Given the description of an element on the screen output the (x, y) to click on. 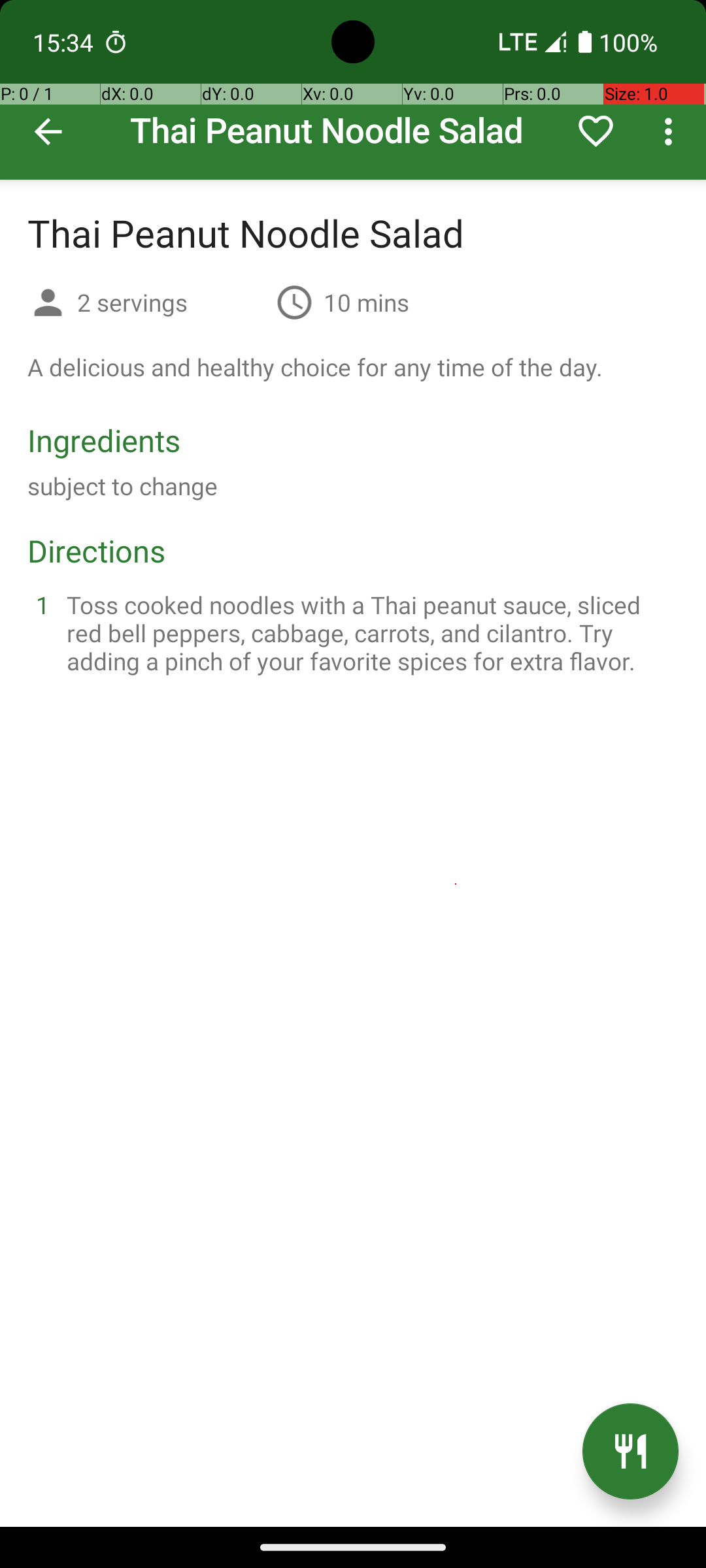
Thai Peanut Noodle Salad Element type: android.widget.FrameLayout (353, 89)
Toss cooked noodles with a Thai peanut sauce, sliced red bell peppers, cabbage, carrots, and cilantro. Try adding a pinch of your favorite spices for extra flavor. Element type: android.widget.TextView (368, 632)
